Given the description of an element on the screen output the (x, y) to click on. 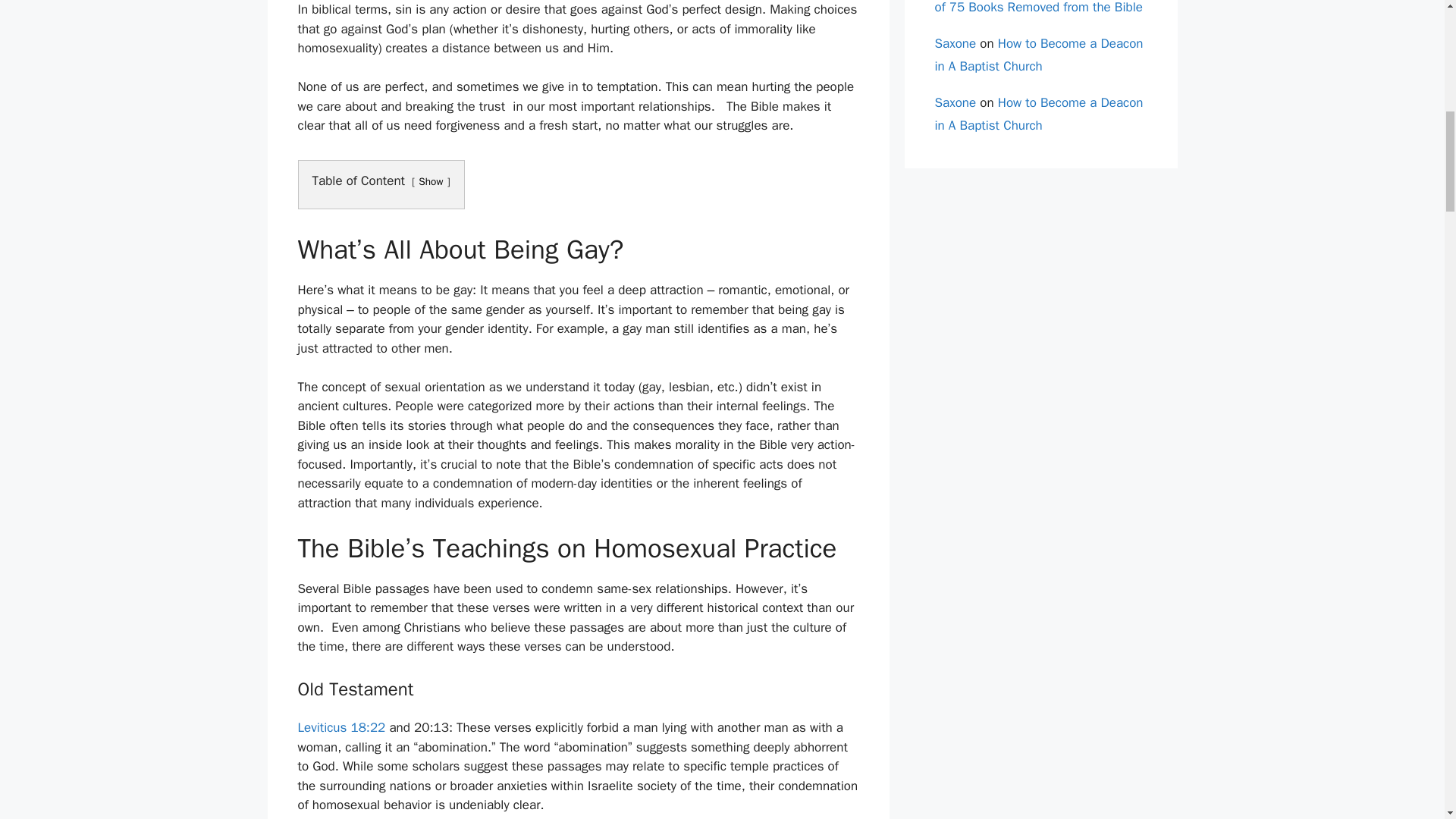
Show (430, 181)
Leviticus 18:22 (341, 727)
